Given the description of an element on the screen output the (x, y) to click on. 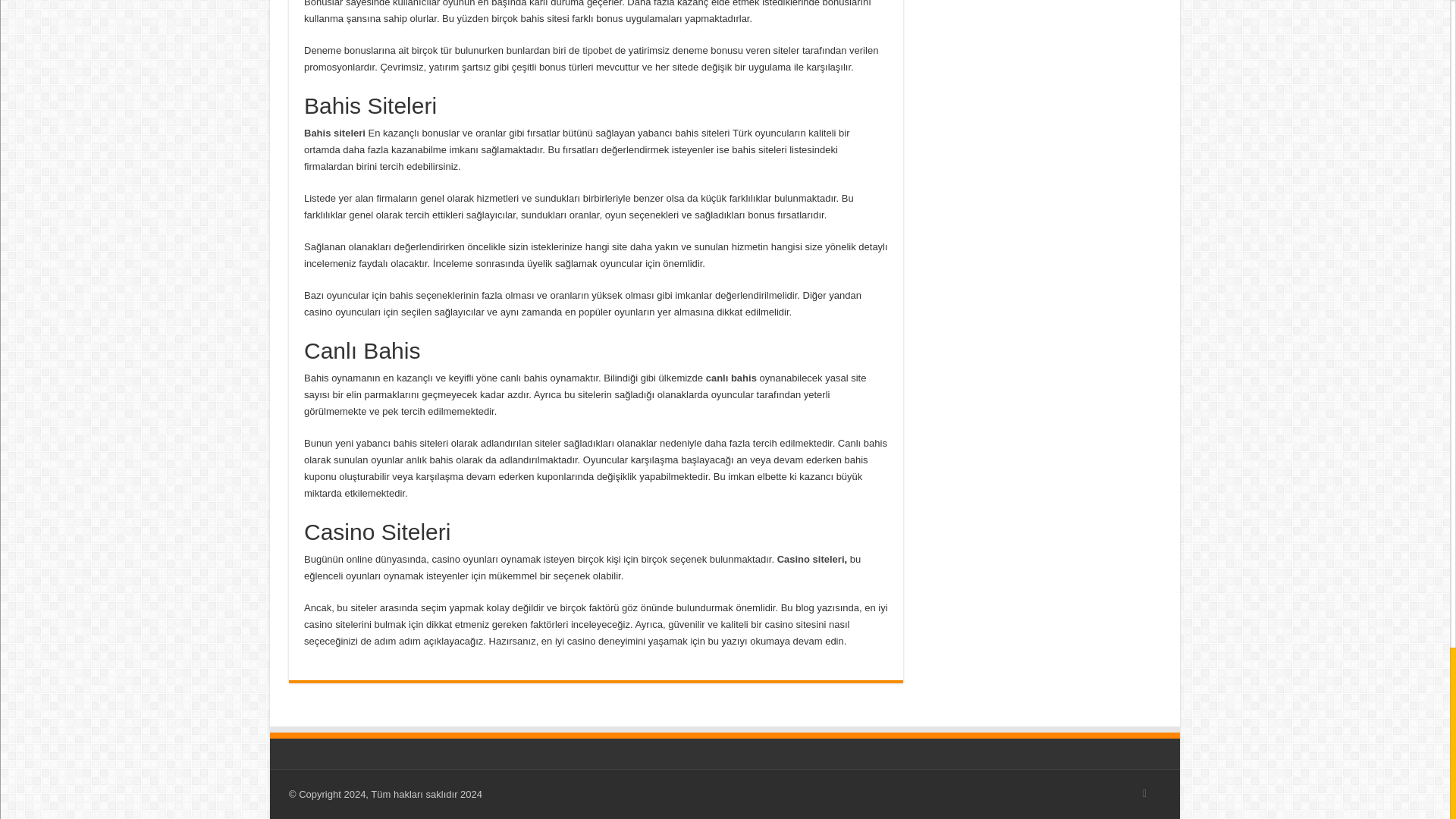
Casino siteleri (810, 559)
Bahis siteleri  (336, 132)
tipobet (596, 50)
